Given the description of an element on the screen output the (x, y) to click on. 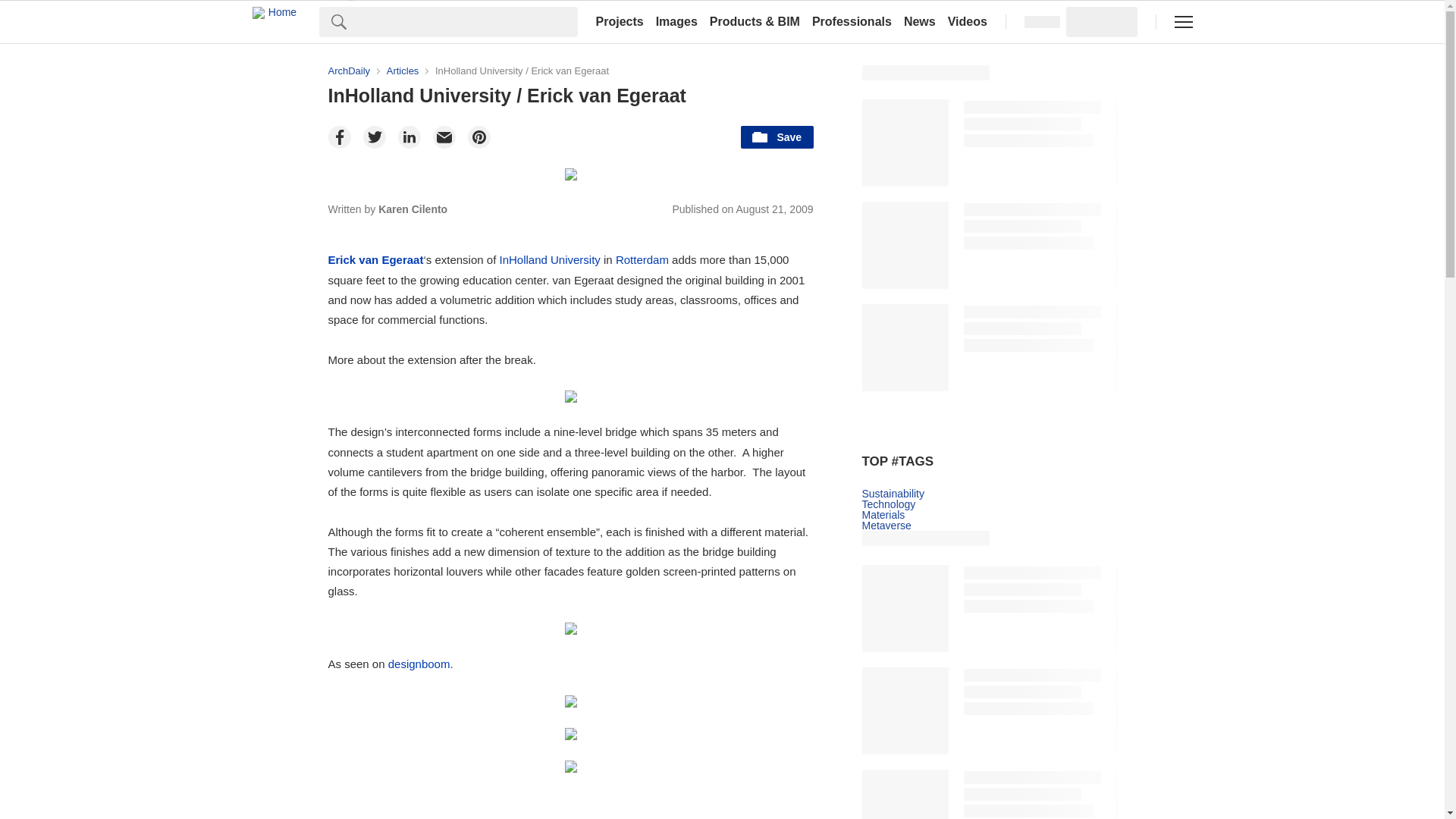
Professionals (852, 21)
Projects (619, 21)
News (920, 21)
Images (676, 21)
Videos (967, 21)
